Given the description of an element on the screen output the (x, y) to click on. 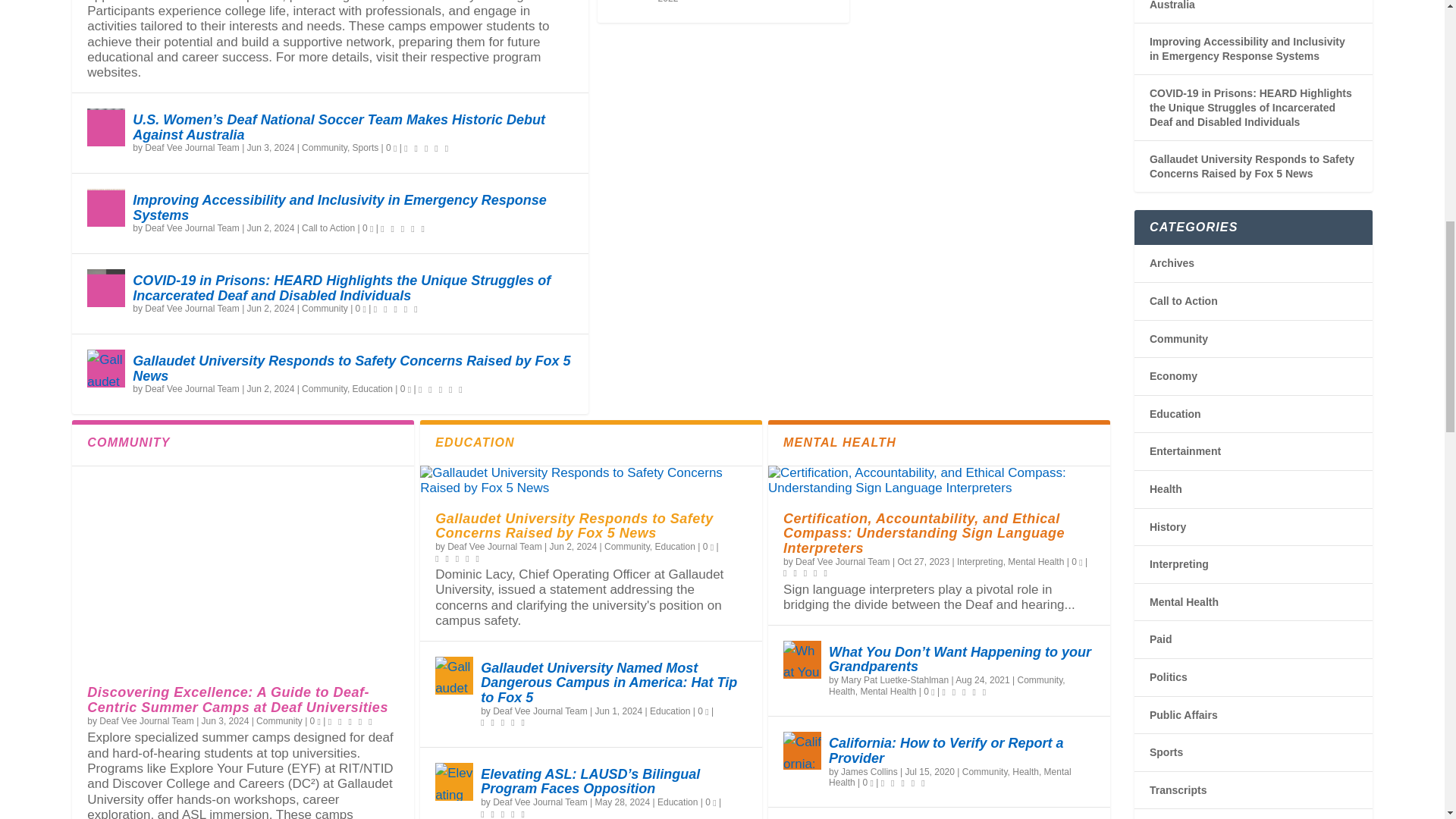
Deaf Vee Journal Team (192, 308)
Deaf Vee Journal Team (192, 227)
Community (324, 308)
0 (367, 227)
Community (324, 147)
Sports (365, 147)
Rating: 0.00 (404, 227)
Deaf Vee Journal Team (192, 147)
Posts by Deaf Vee Journal Team (192, 227)
Call to Action (328, 227)
Rating: 0.00 (427, 147)
0 (360, 308)
